Given the description of an element on the screen output the (x, y) to click on. 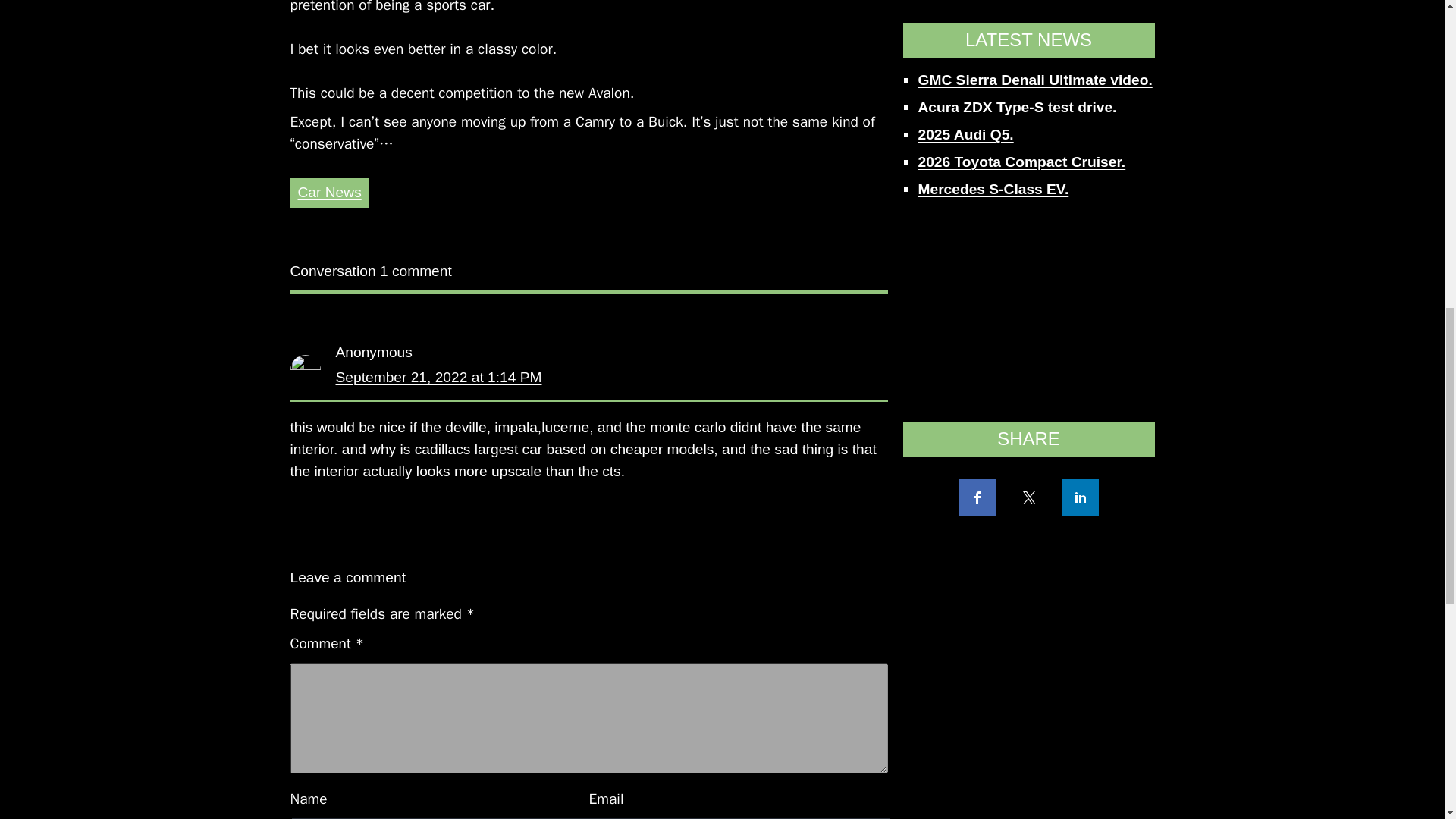
Car News (329, 191)
September 21, 2022 at 1:14 PM (437, 376)
Advertisement (1028, 14)
